Given the description of an element on the screen output the (x, y) to click on. 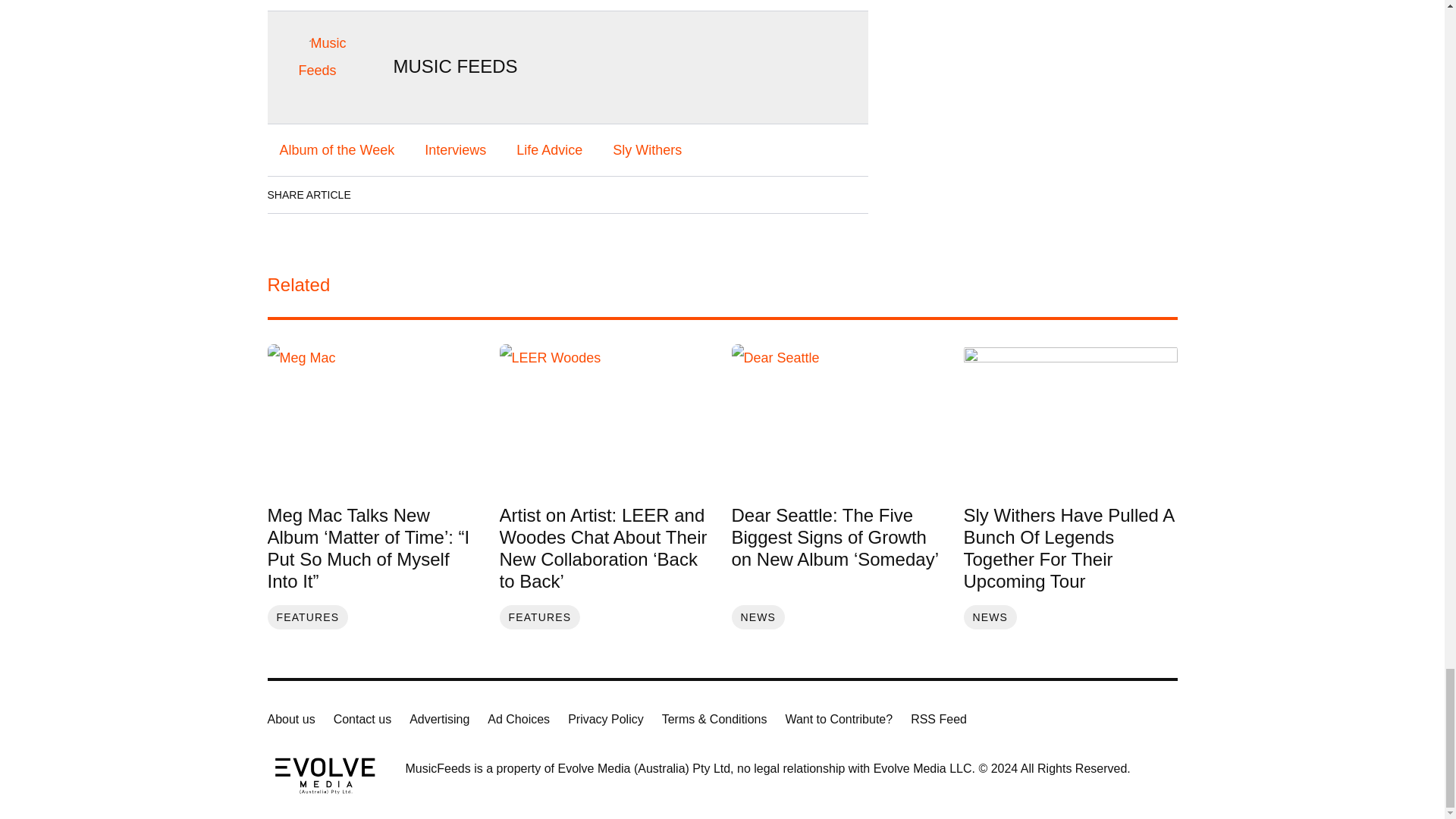
Album of the Week (336, 149)
Life Advice (548, 149)
MUSIC FEEDS (454, 66)
Interviews (454, 149)
